Given the description of an element on the screen output the (x, y) to click on. 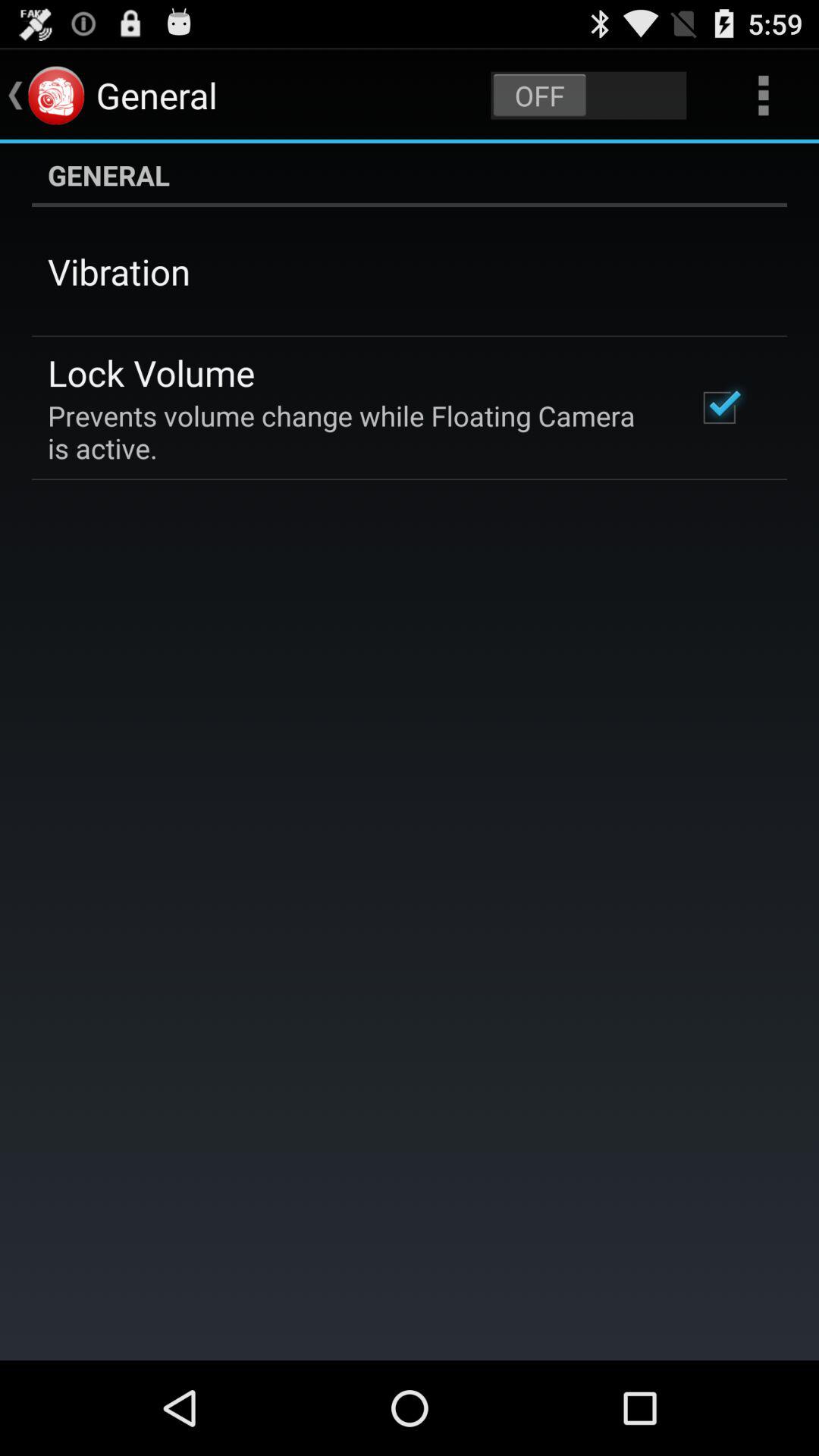
open item above the general (763, 95)
